Given the description of an element on the screen output the (x, y) to click on. 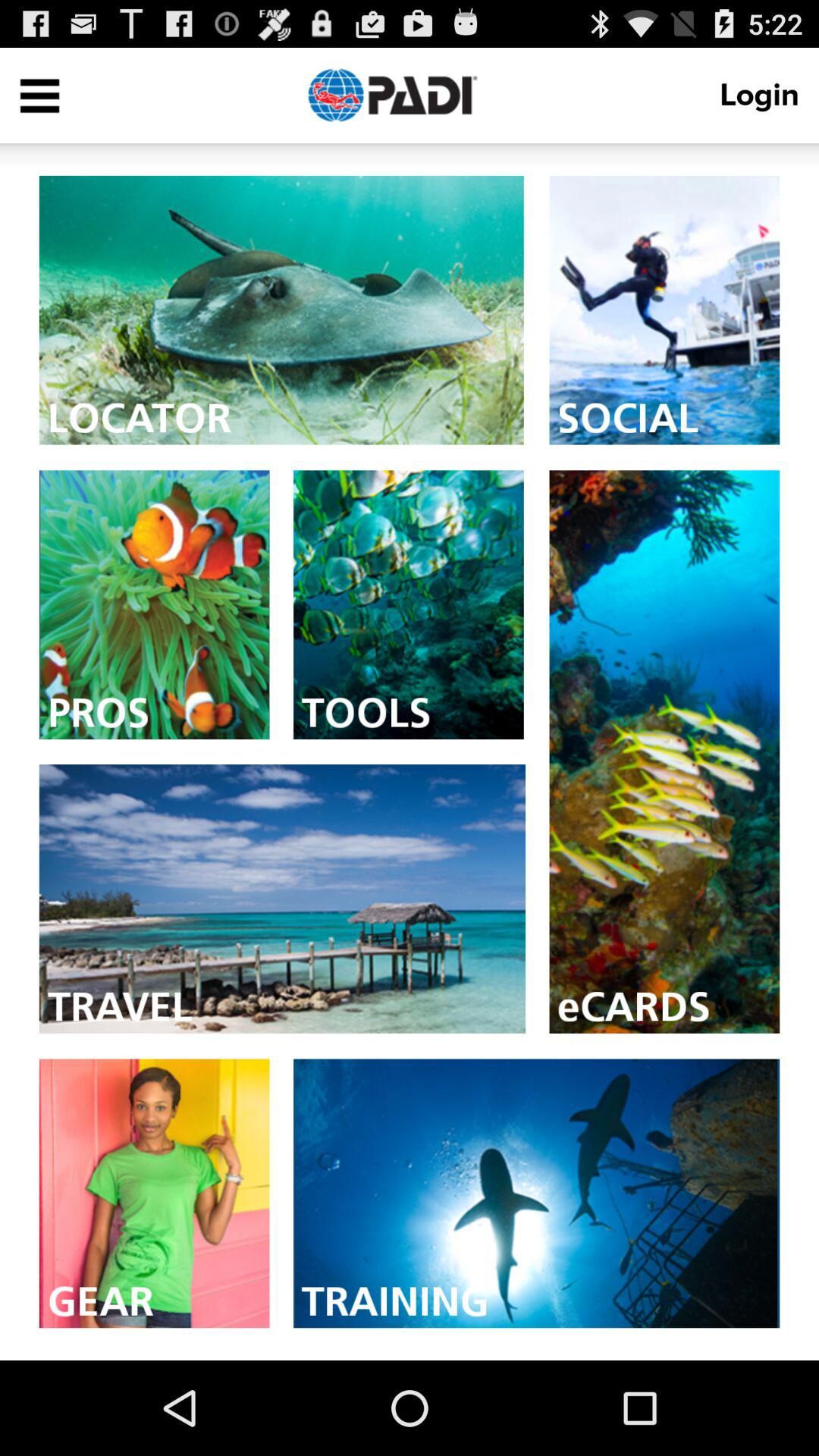
open menu (39, 95)
